Given the description of an element on the screen output the (x, y) to click on. 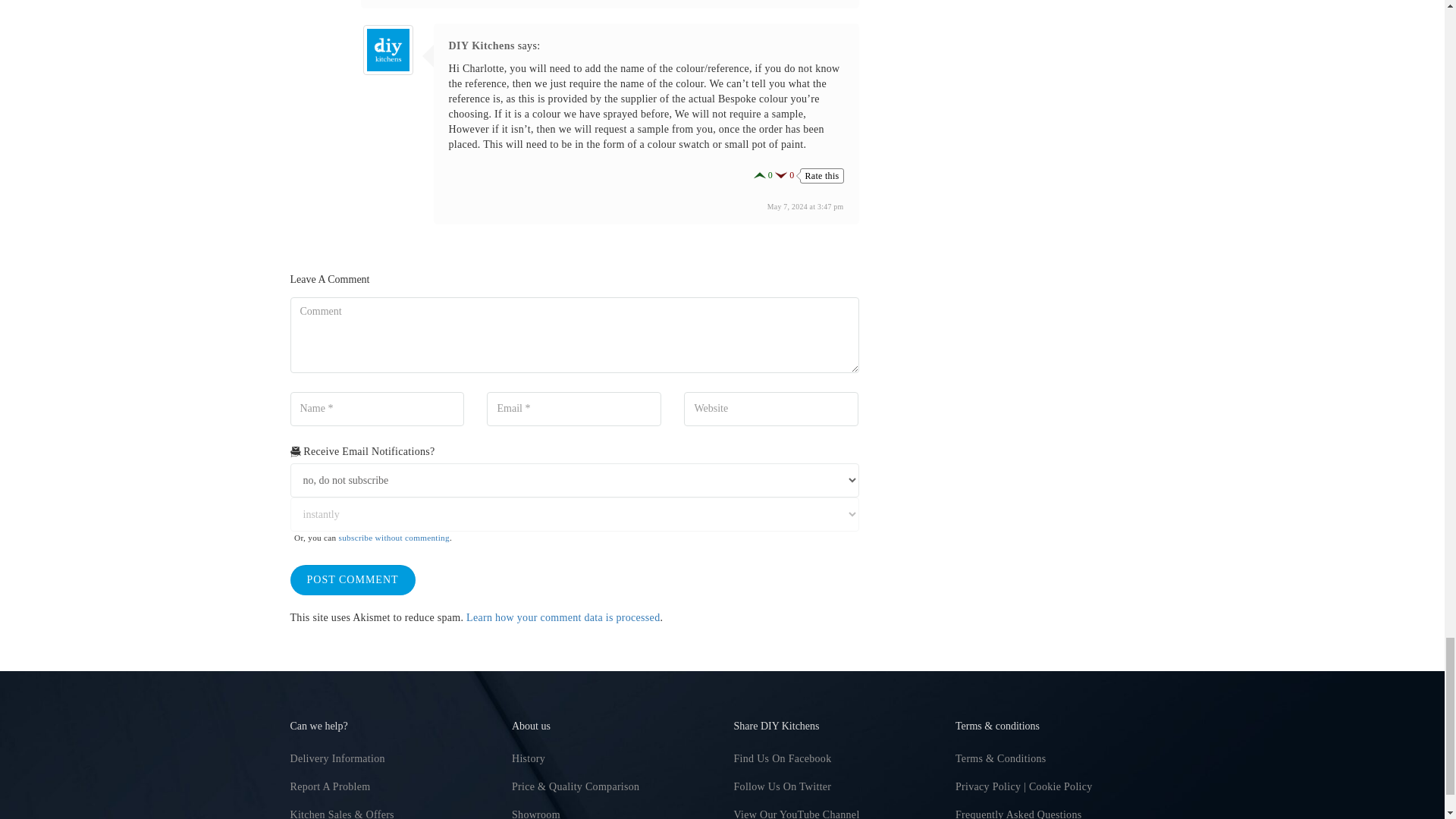
Post Comment (351, 580)
Receive Notifications? (574, 480)
Notify Me (574, 514)
